Given the description of an element on the screen output the (x, y) to click on. 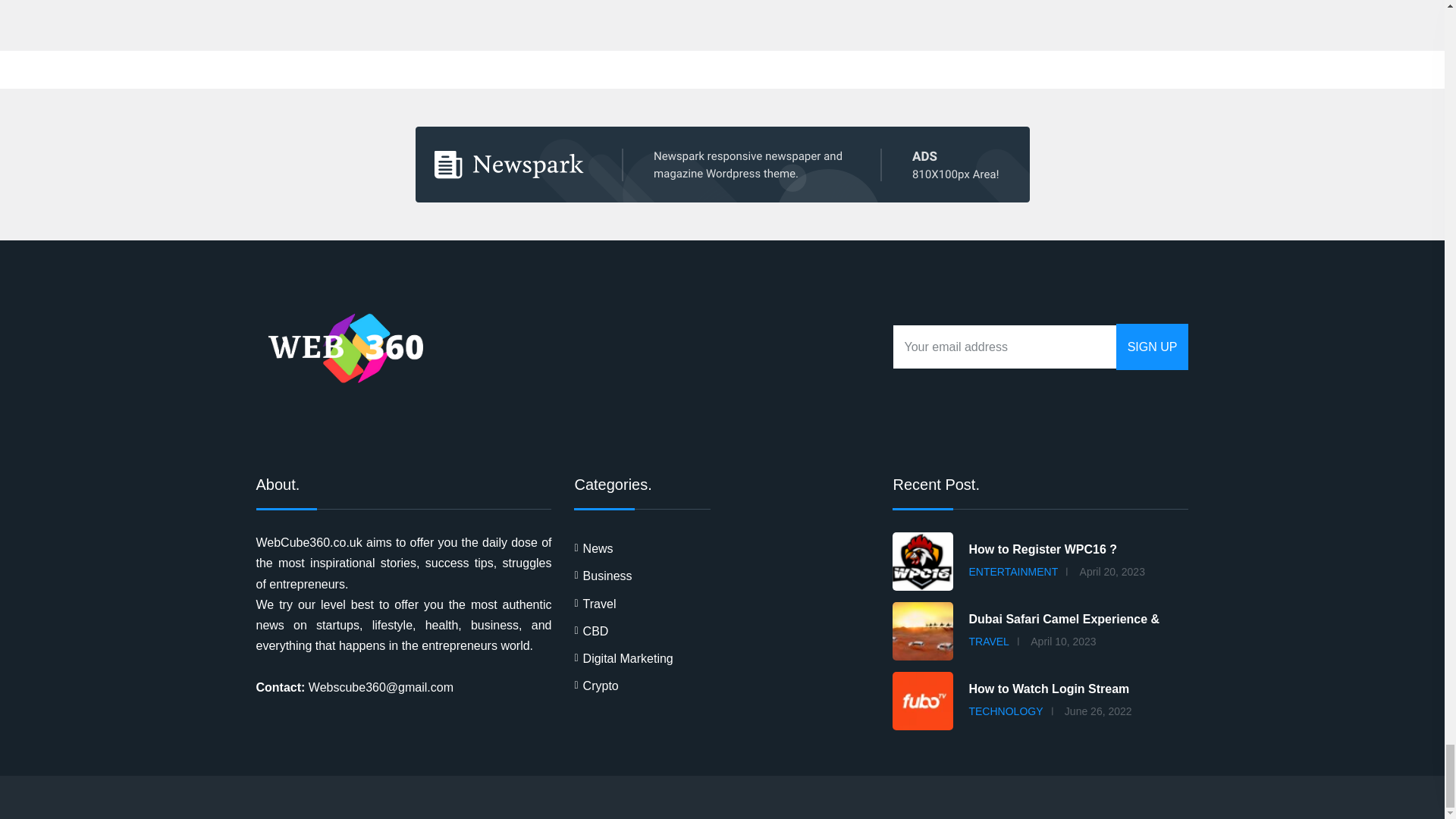
Sign up (1152, 346)
